Given the description of an element on the screen output the (x, y) to click on. 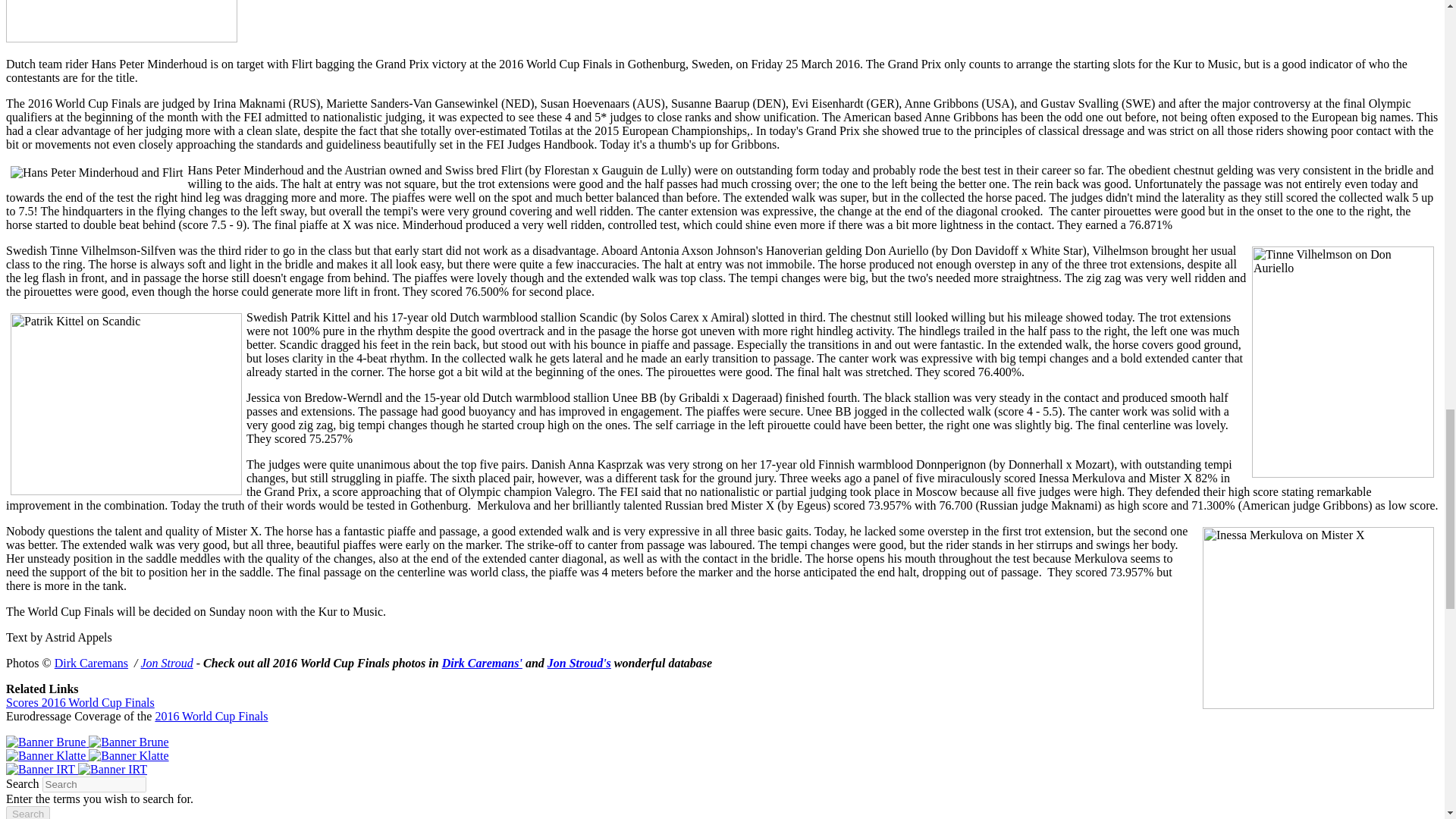
Patrik Kittel on Scandic (125, 403)
Hans Peter Minderhoud and Flirt (96, 172)
Enter the terms you wish to search for. (94, 784)
